Given the description of an element on the screen output the (x, y) to click on. 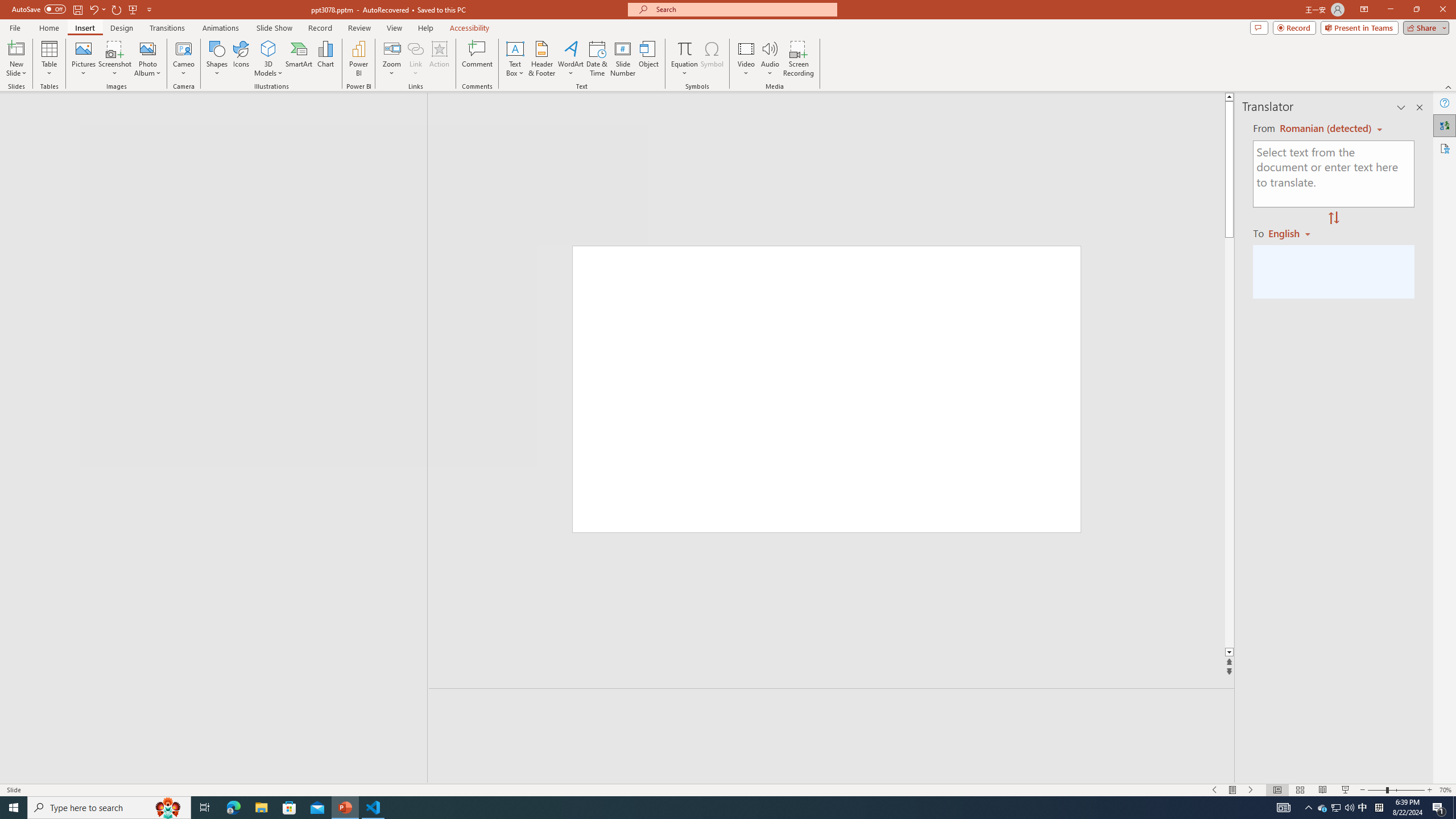
Romanian (detected) (1323, 128)
Table (49, 58)
Power BI (358, 58)
Menu On (1232, 790)
Header & Footer... (541, 58)
Symbol... (711, 58)
